Given the description of an element on the screen output the (x, y) to click on. 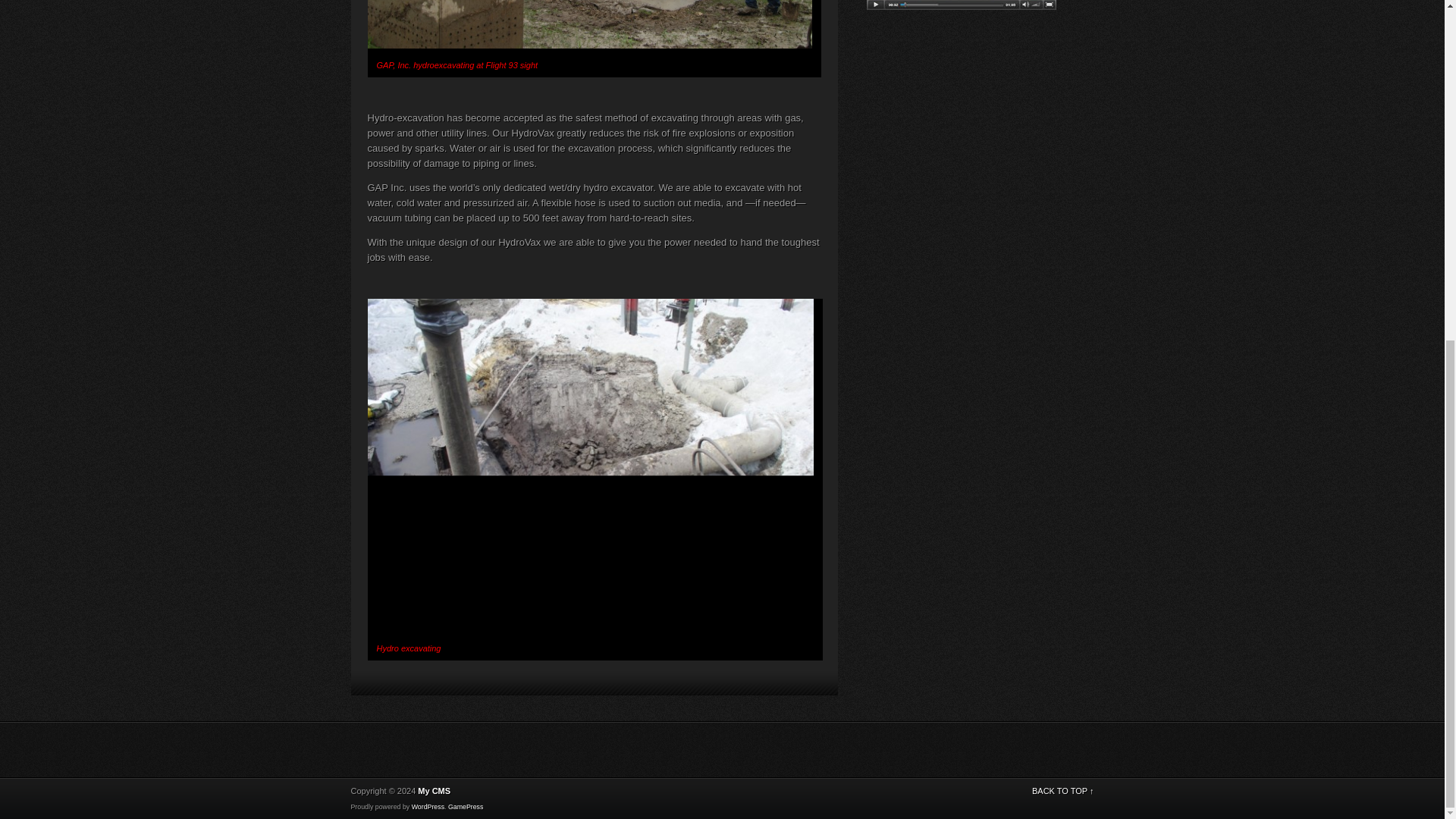
WordPress (428, 807)
HYDRO EXCAVATING, GAP Inc. (588, 24)
GamePress (465, 807)
GamePress (465, 807)
My CMS (433, 791)
